Given the description of an element on the screen output the (x, y) to click on. 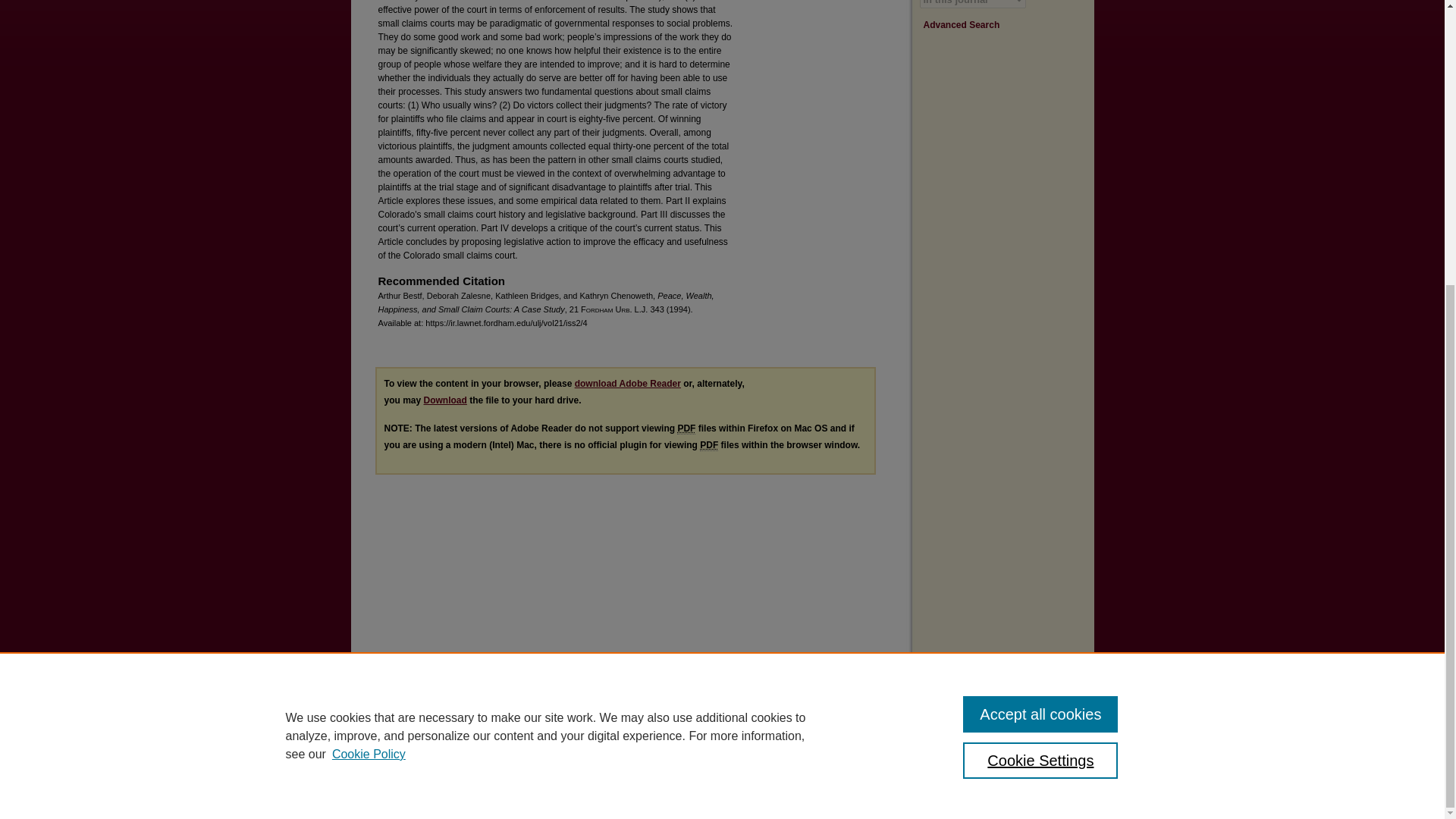
Download (445, 399)
Portable Document Format (708, 445)
Portable Document Format (686, 428)
Adobe - Adobe Reader download (628, 383)
download Adobe Reader (628, 383)
